Given the description of an element on the screen output the (x, y) to click on. 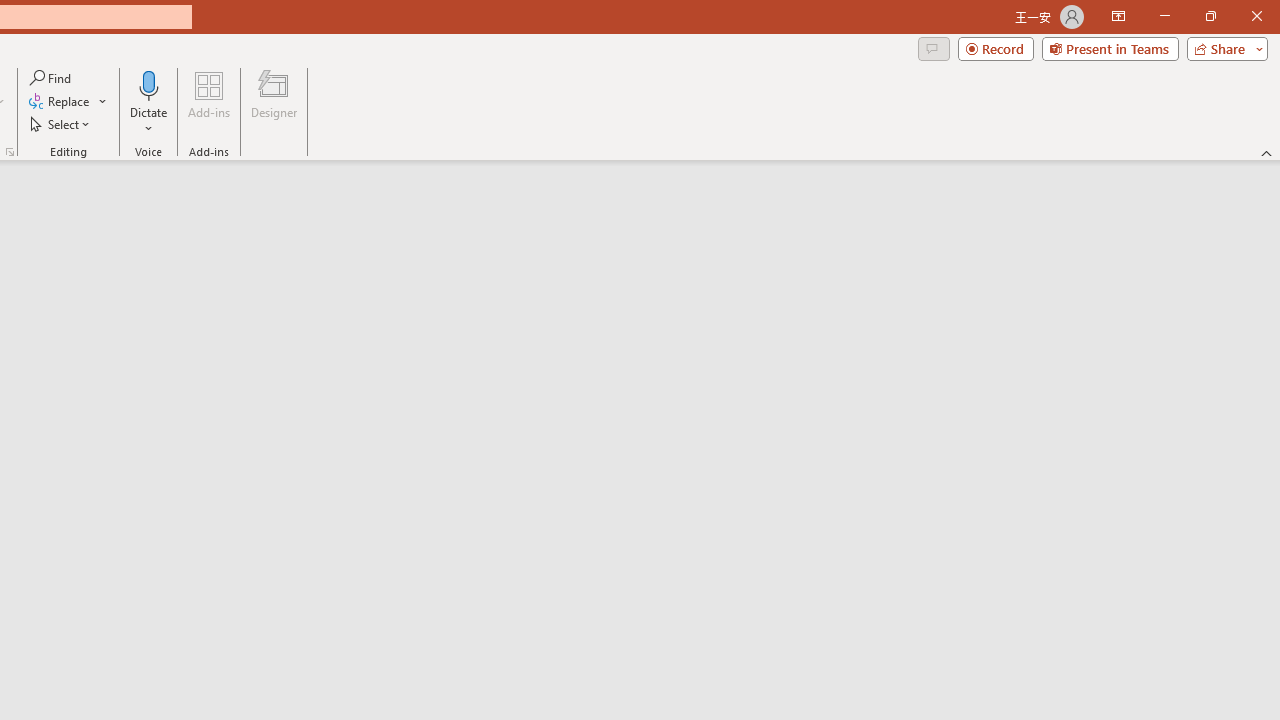
Select (61, 124)
